Given the description of an element on the screen output the (x, y) to click on. 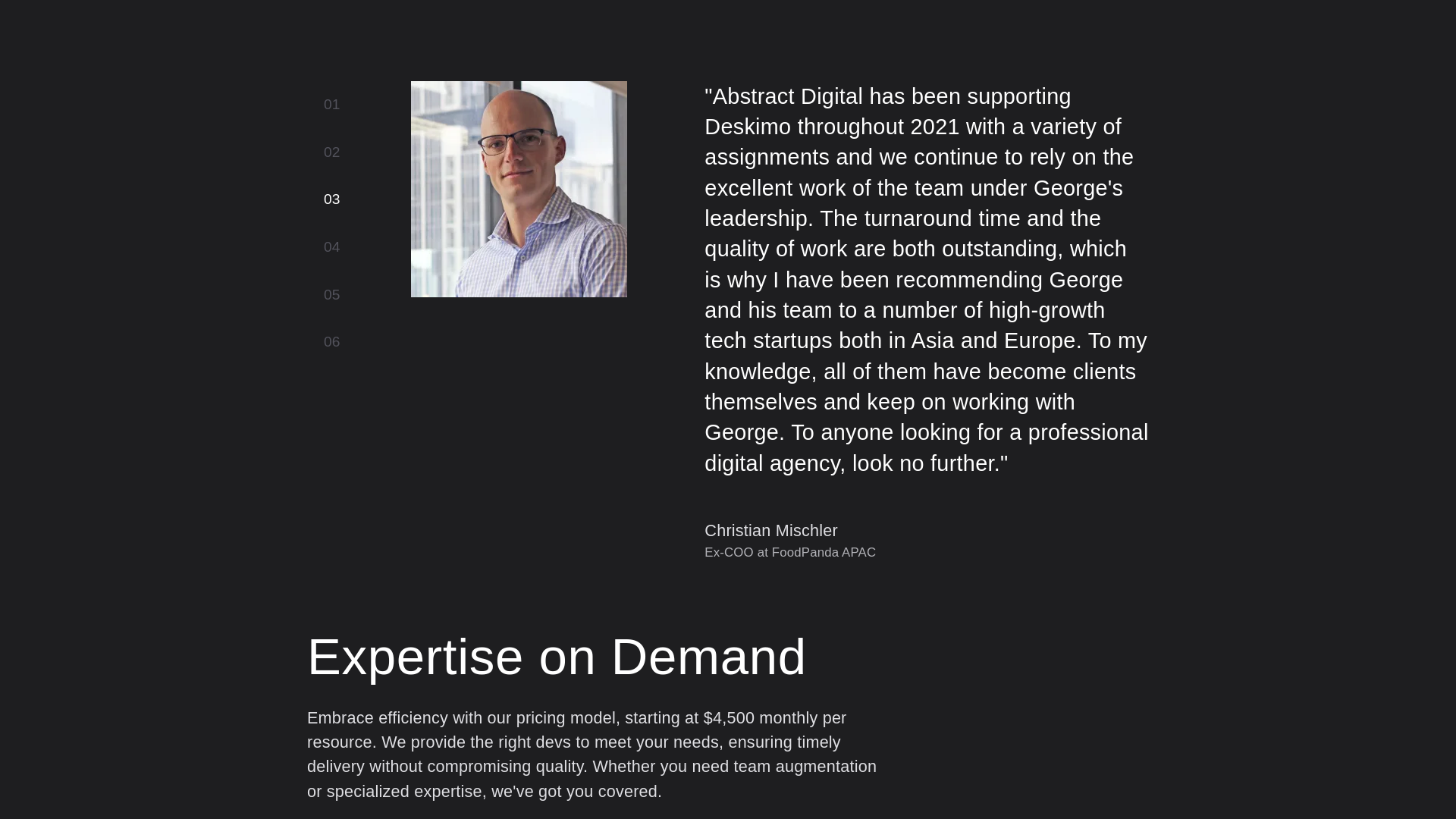
02 (331, 152)
03 (331, 199)
01 (331, 104)
04 (331, 247)
06 (331, 342)
05 (331, 295)
